Given the description of an element on the screen output the (x, y) to click on. 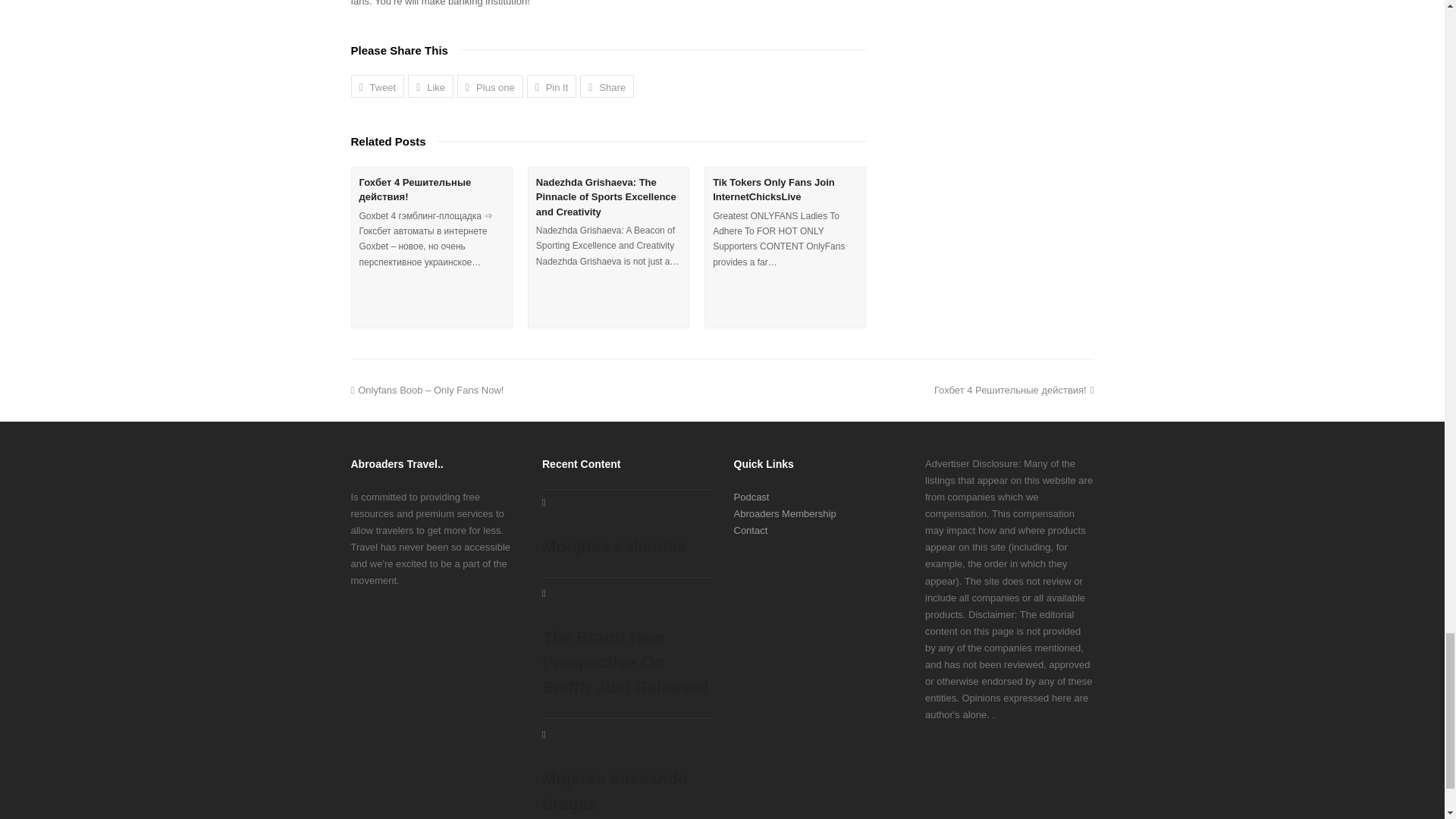
Monjitas calientes (626, 527)
Share (606, 86)
Share on Twitter (377, 86)
Tik Tokers Only Fans Join InternetChicksLive (773, 189)
Pin It (551, 86)
Like (429, 86)
Podcast (751, 496)
Share on LinkedIn (606, 86)
Tweet (377, 86)
Share on Pinterest (551, 86)
The Brand New Perspective On Snifffr Just Released (626, 644)
Tik Tokers Only Fans Join InternetChicksLive (773, 189)
Plus one (489, 86)
